Given the description of an element on the screen output the (x, y) to click on. 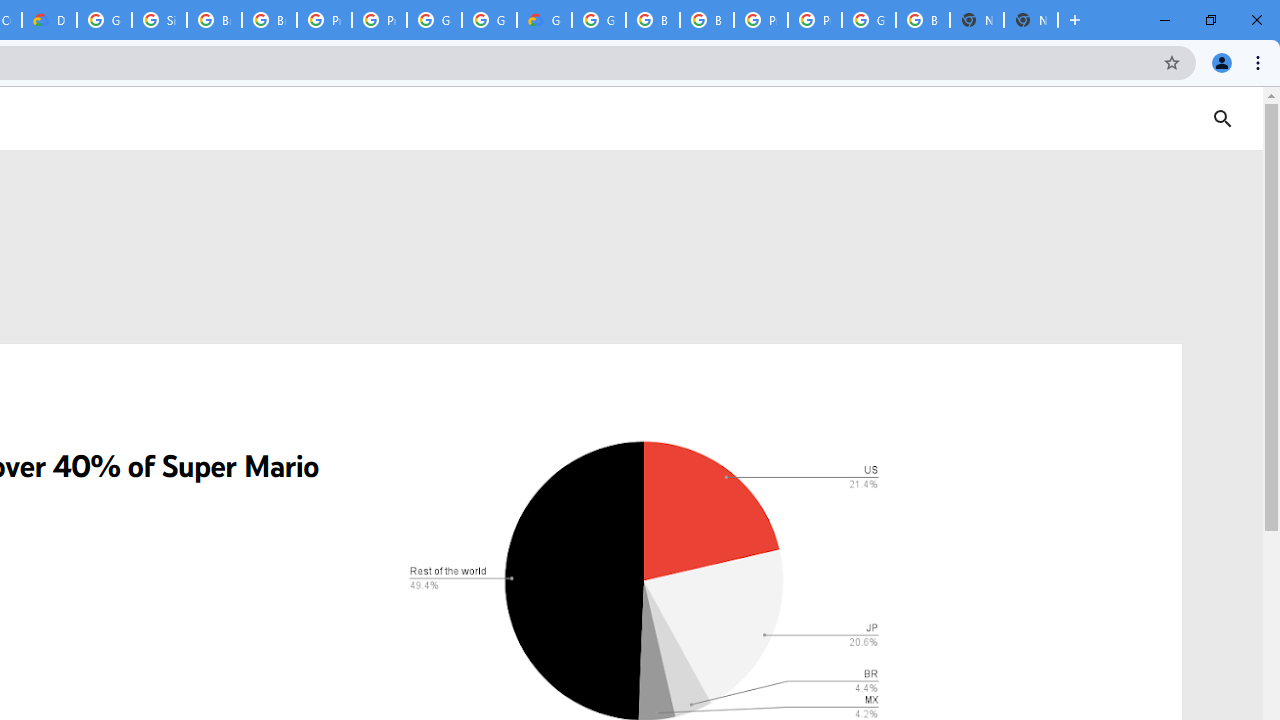
Browse Chrome as a guest - Computer - Google Chrome Help (213, 20)
Google Cloud Platform (103, 20)
Google Cloud Platform (868, 20)
